Given the description of an element on the screen output the (x, y) to click on. 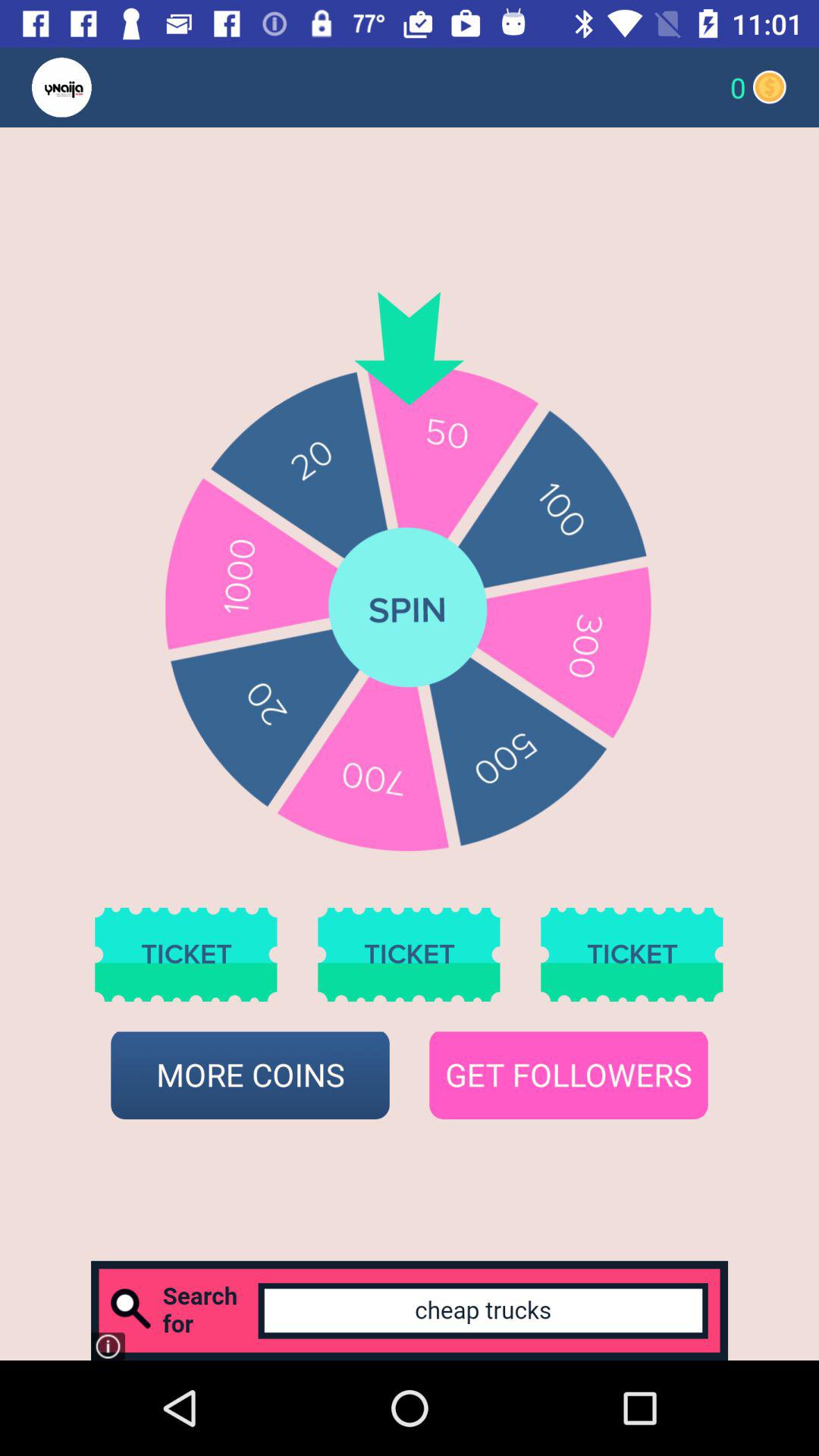
select item below the ticket (249, 1075)
